Given the description of an element on the screen output the (x, y) to click on. 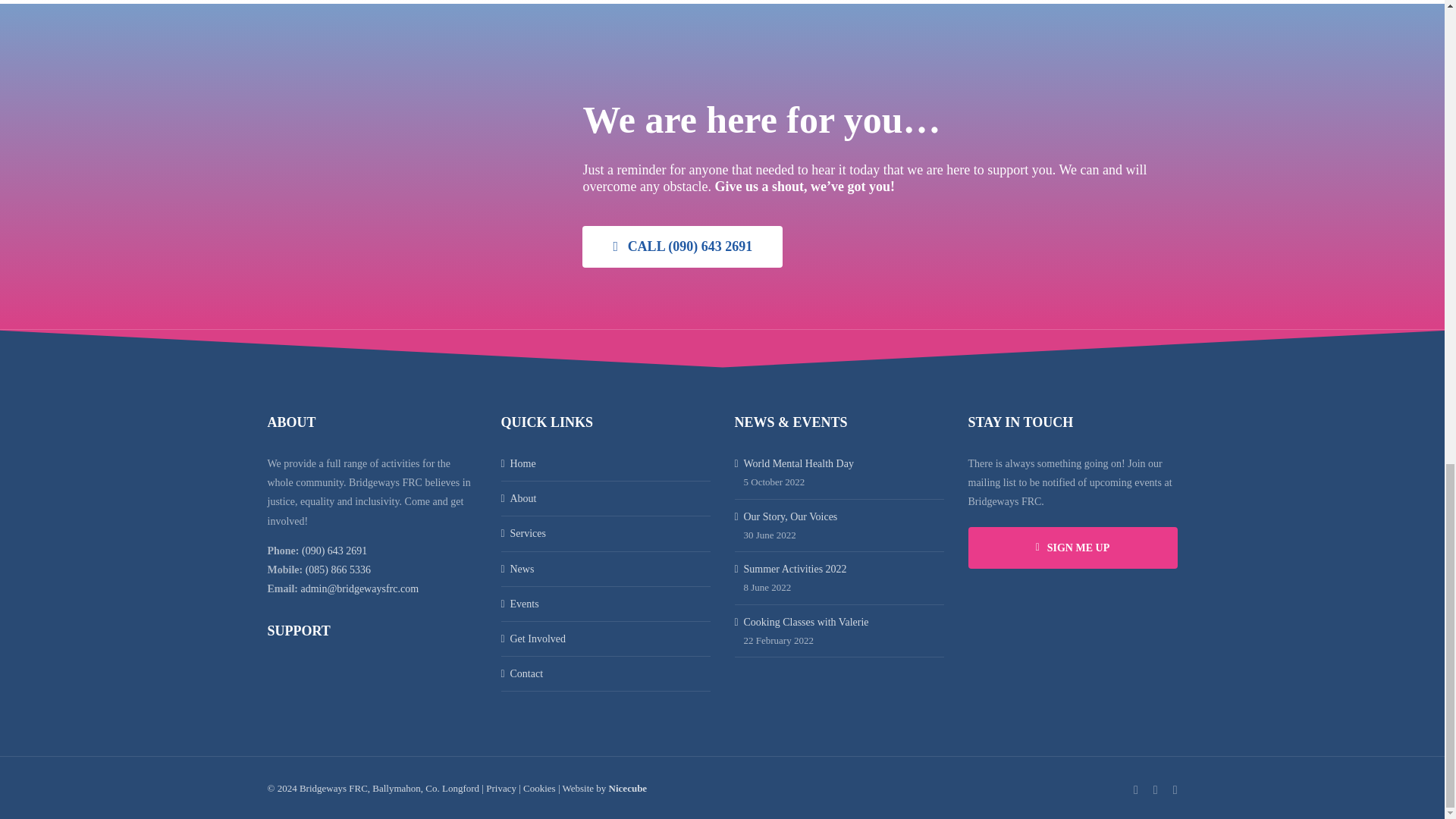
Supported by Tusla and the National Integration Fund (371, 684)
